Given the description of an element on the screen output the (x, y) to click on. 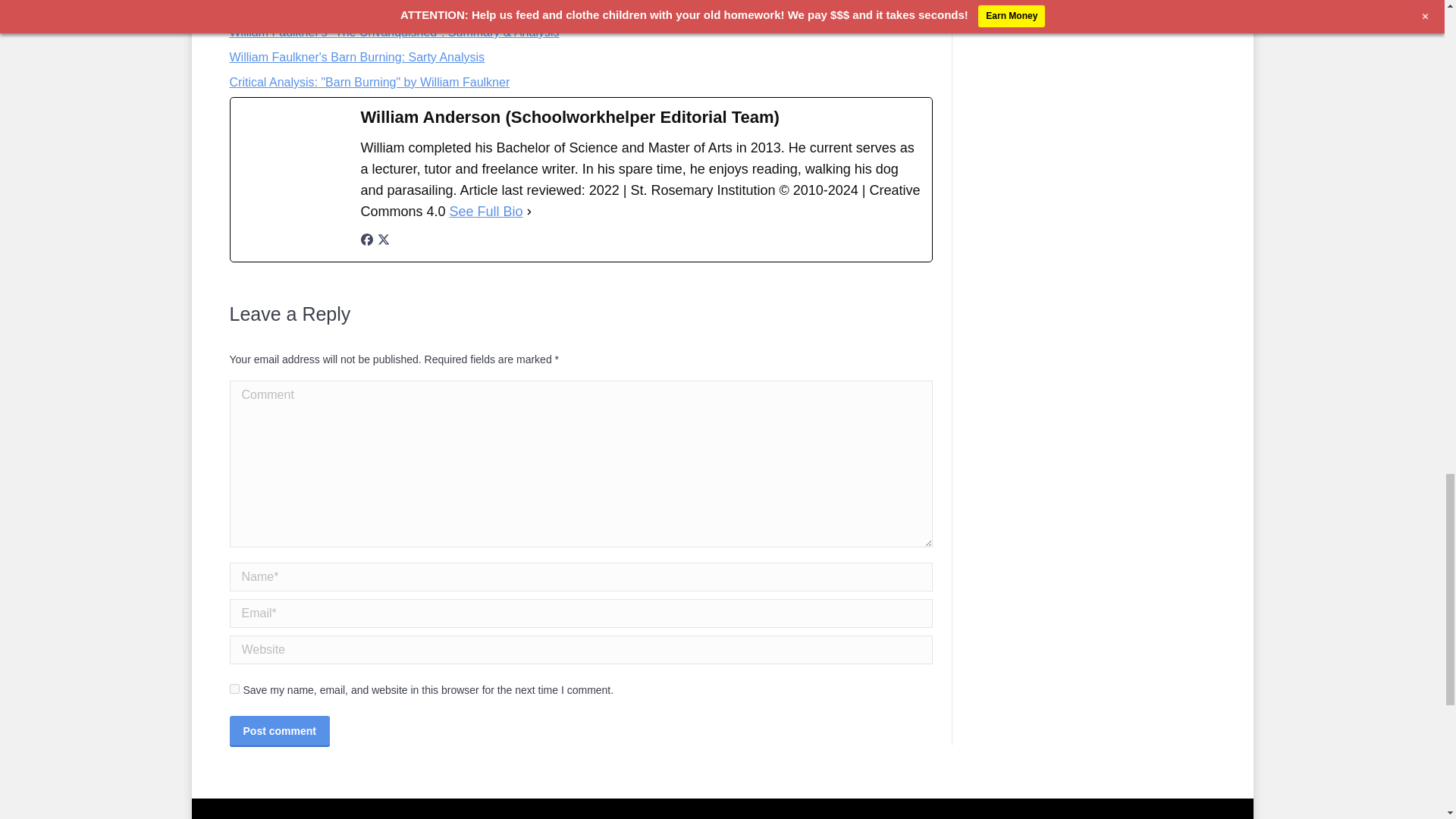
Critical Analysis: "Barn Burning" by William Faulkner (368, 82)
yes (233, 688)
See Full Bio (485, 210)
William Faulkner's Barn Burning: Sarty Analysis (356, 56)
William Faulkner: A Rose for Emily Essay (339, 6)
Post comment (278, 730)
